Given the description of an element on the screen output the (x, y) to click on. 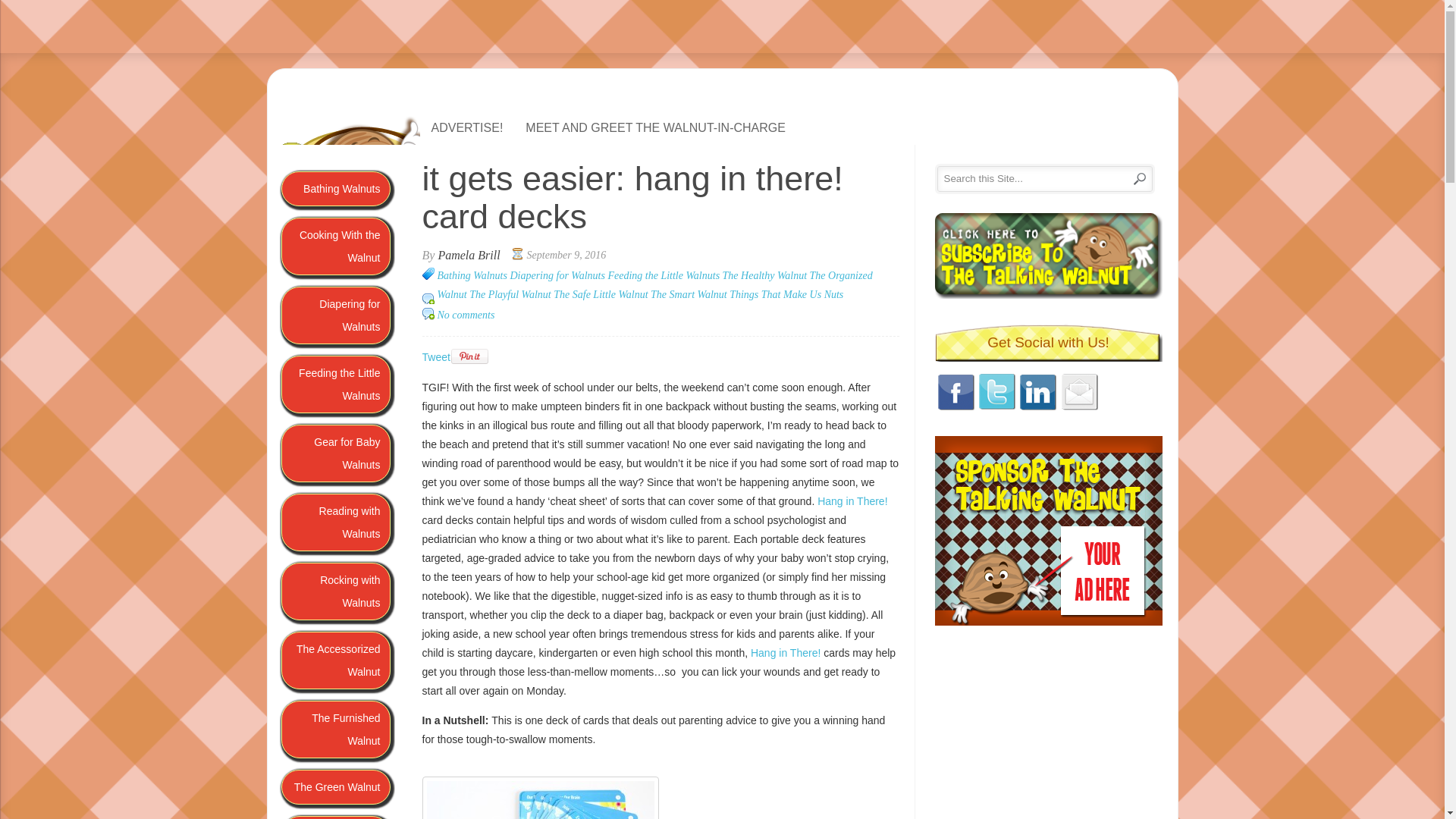
The Talking Walnut (547, 172)
Rocking with Walnuts (335, 590)
Search this Site... (1029, 178)
Cooking With the Walnut (335, 246)
ADVERTISE! (467, 127)
Pamela Brill (468, 254)
Bathing Walnuts (335, 188)
The Green Walnut (335, 786)
Bathing Walnuts (471, 275)
Diapering for Walnuts (335, 314)
